Given the description of an element on the screen output the (x, y) to click on. 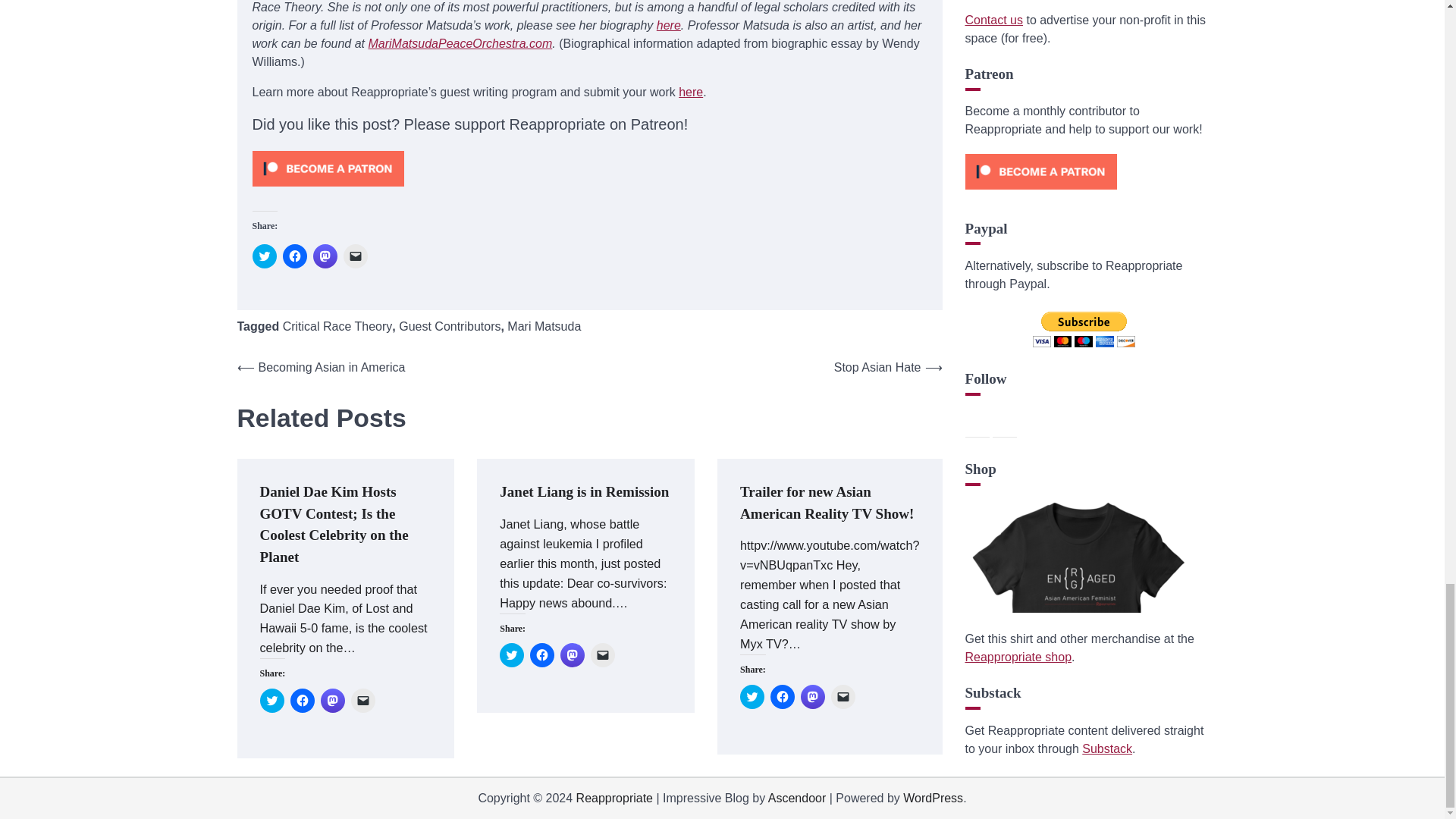
Click to share on Mastodon (572, 654)
Click to share on Mastodon (324, 256)
Click to email a link to a friend (602, 654)
Click to email a link to a friend (354, 256)
Click to share on Facebook (301, 700)
Click to share on Twitter (511, 654)
Click to share on Twitter (271, 700)
Click to share on Facebook (541, 654)
Click to share on Facebook (293, 256)
Click to email a link to a friend (362, 700)
